Given the description of an element on the screen output the (x, y) to click on. 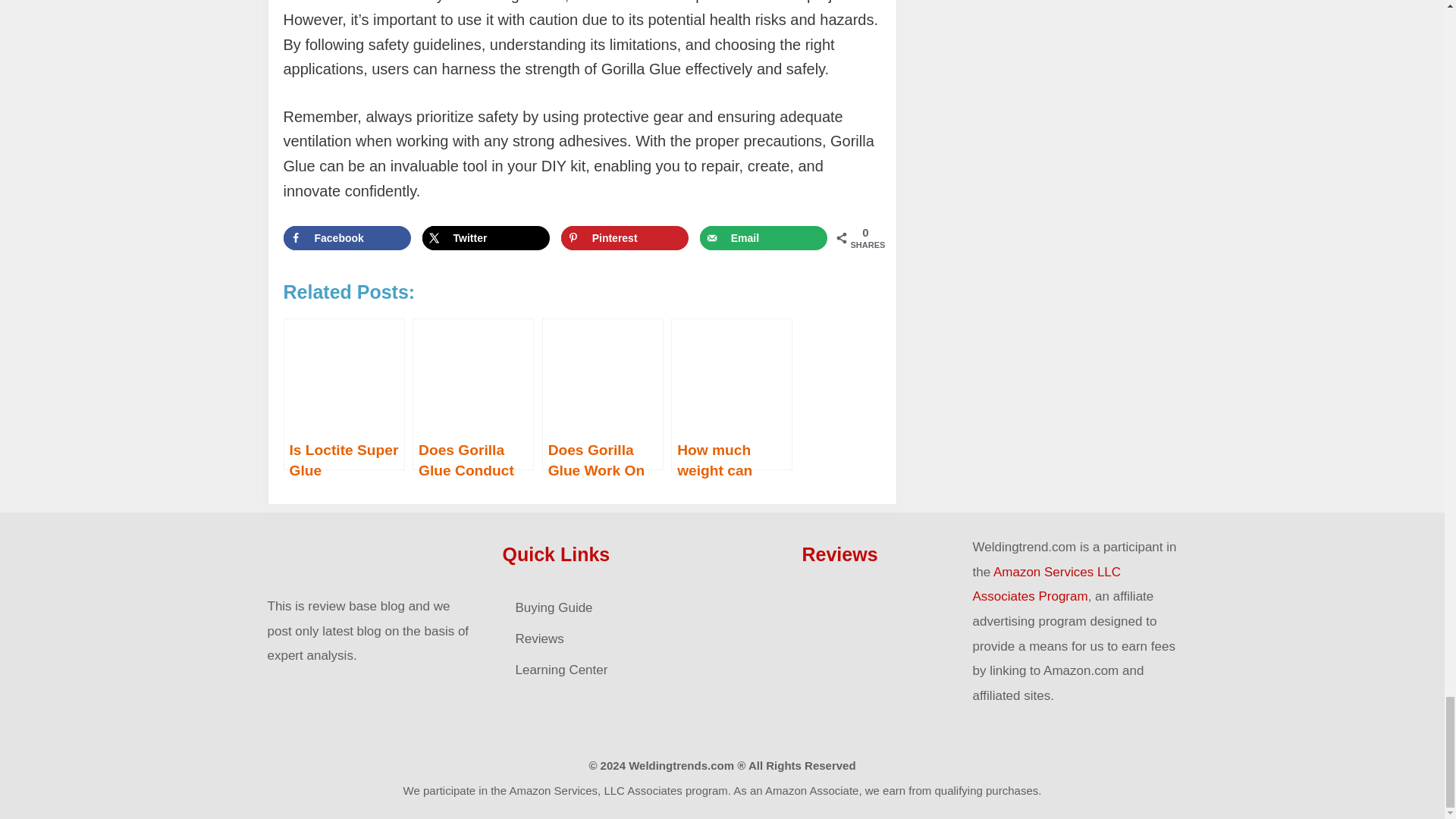
Does Gorilla Glue Conduct Electricity? (473, 394)
Is Loctite Super Glue Flammable? (343, 394)
Facebook (347, 238)
Quick Links (556, 554)
Amazon Services LLC Associates Program (1046, 584)
Email (764, 238)
Does Gorilla Glue Work On Plastic? (602, 394)
Twitter (486, 238)
Reviews (839, 554)
Does Gorilla Glue Conduct Electricity? (473, 394)
How much weight can gorilla glue hold? (731, 394)
Pinterest (624, 238)
Share on Facebook (347, 238)
Send over email (764, 238)
Does Gorilla Glue Work On Plastic? (602, 394)
